Given the description of an element on the screen output the (x, y) to click on. 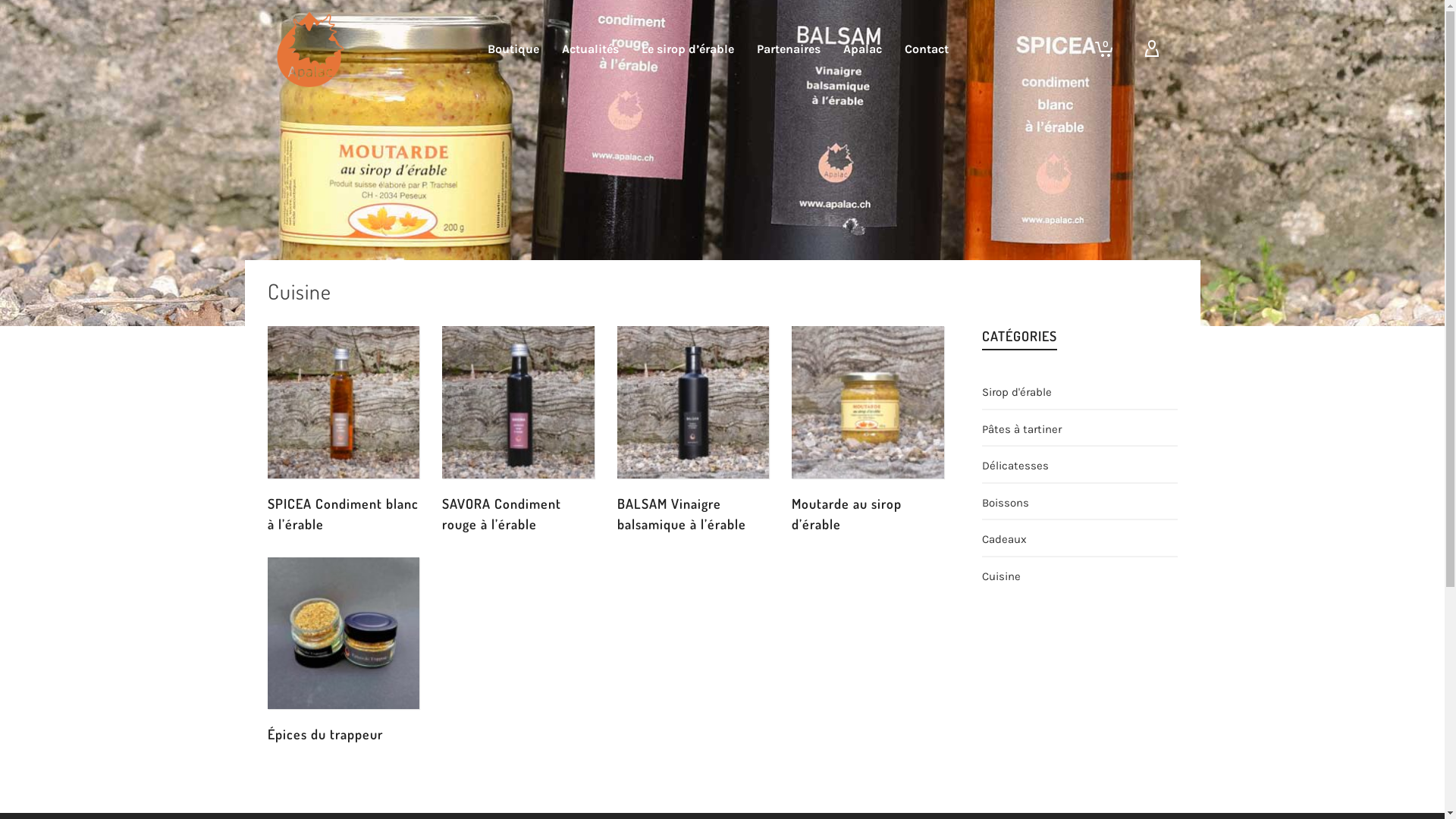
0 Element type: text (1098, 49)
Cadeaux Element type: text (1004, 537)
Contact Element type: text (926, 49)
Cuisine Element type: text (1001, 574)
Apalac Element type: text (862, 49)
Partenaires Element type: text (788, 49)
Boissons Element type: text (1005, 501)
Boutique Element type: text (513, 49)
